Given the description of an element on the screen output the (x, y) to click on. 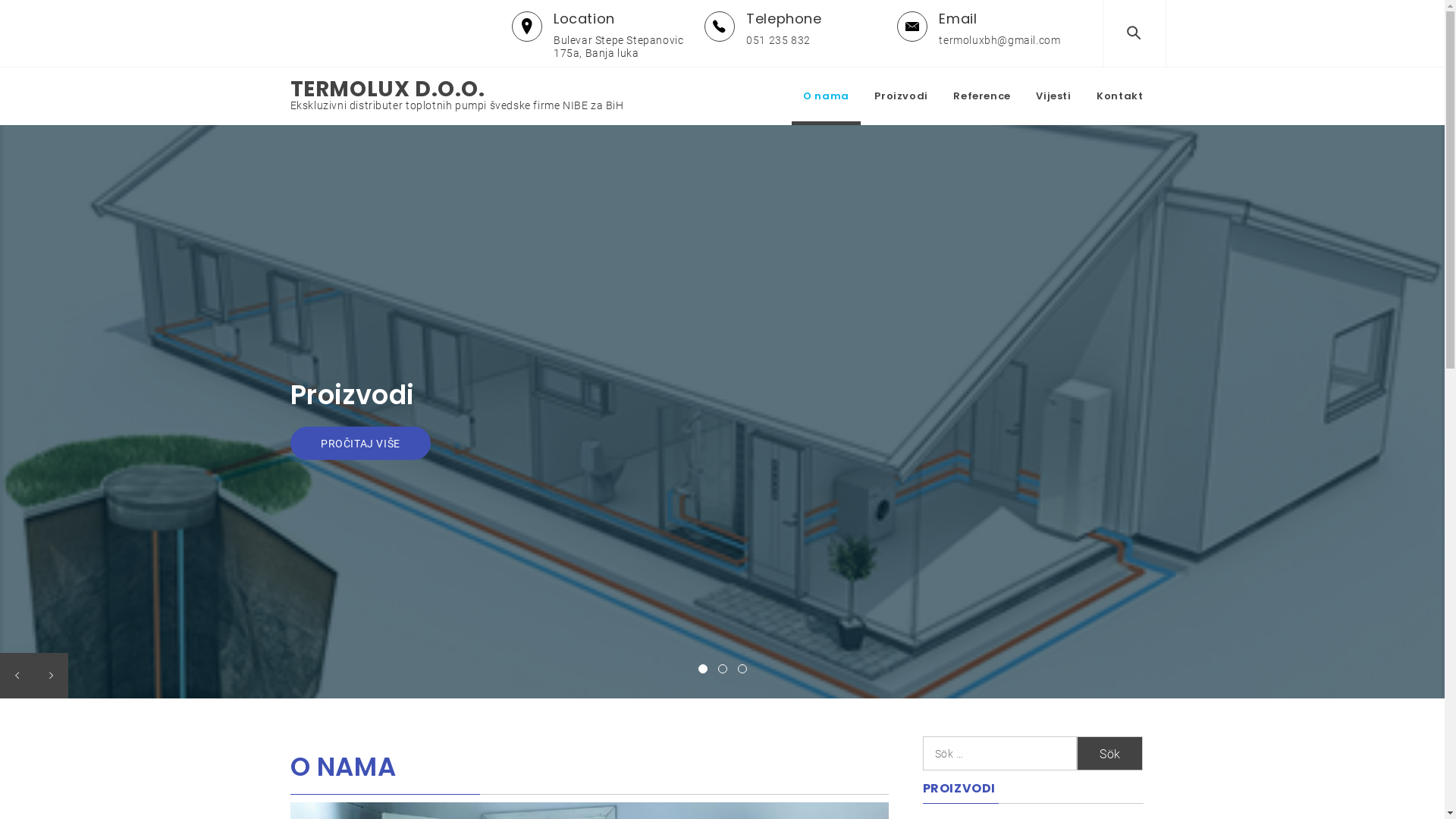
TERMOLUX D.O.O. Element type: text (386, 88)
O nama Element type: text (825, 96)
Proizvodi Element type: text (900, 96)
Reference Element type: text (981, 96)
Vijesti Element type: text (1053, 96)
051 235 832 Element type: text (783, 40)
termoluxbh@gmail.com Element type: text (999, 40)
Skip to content Element type: text (0, 0)
Kontakt Element type: text (1119, 96)
